Given the description of an element on the screen output the (x, y) to click on. 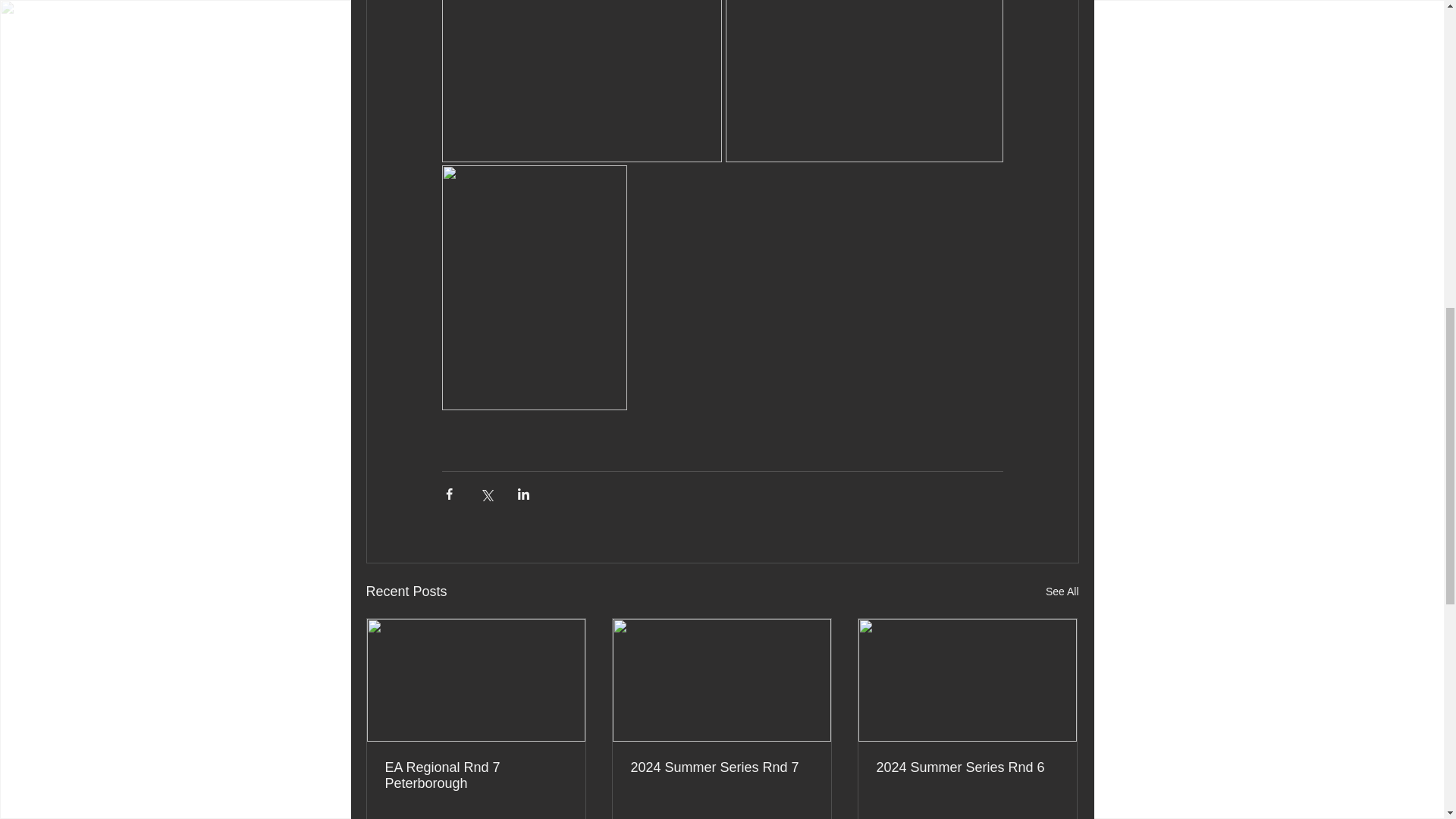
EA Regional Rnd 7 Peterborough (476, 775)
2024 Summer Series Rnd 7 (721, 767)
See All (1061, 591)
2024 Summer Series Rnd 6 (967, 767)
